Given the description of an element on the screen output the (x, y) to click on. 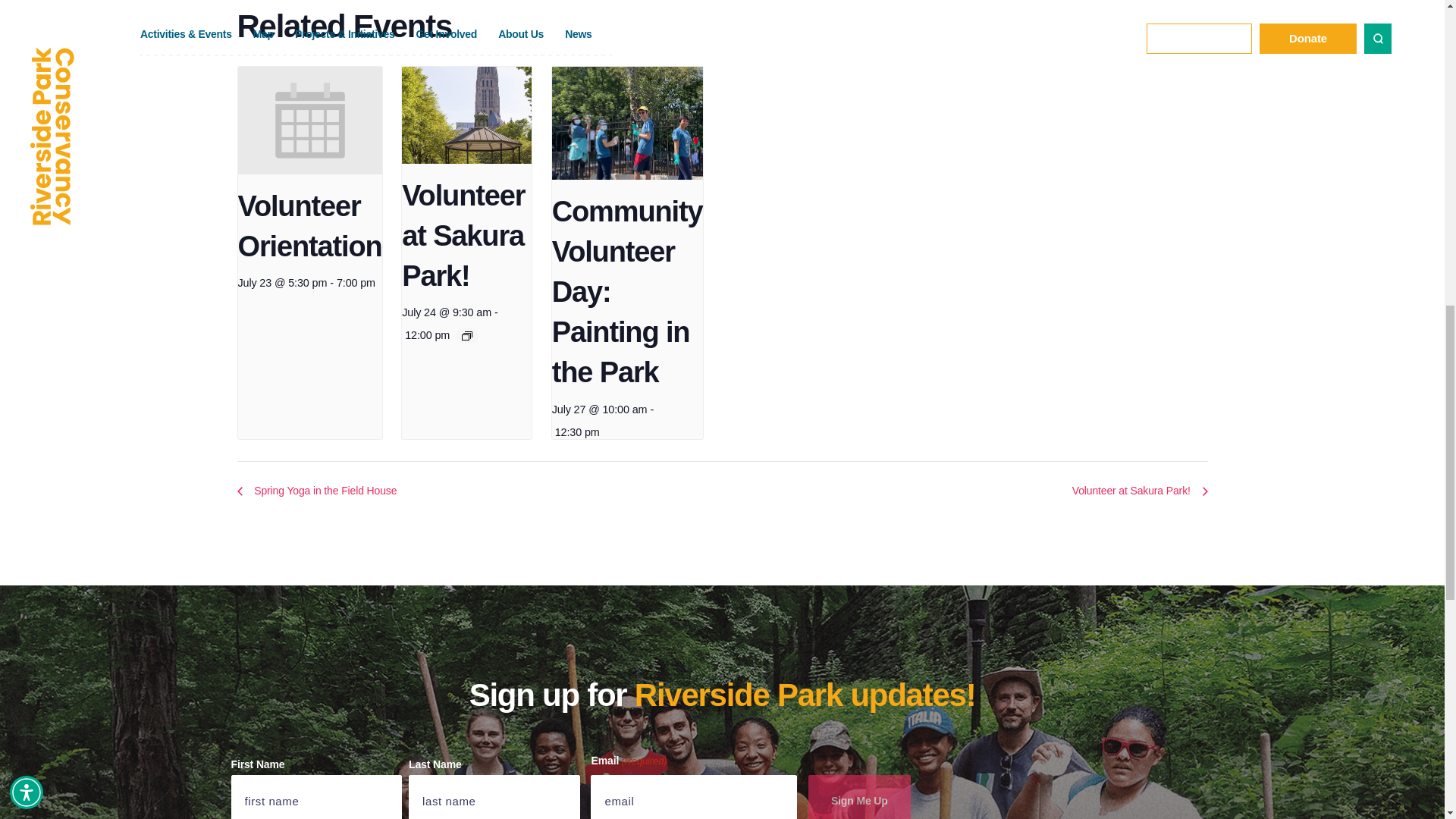
Sign Me Up (859, 796)
